Given the description of an element on the screen output the (x, y) to click on. 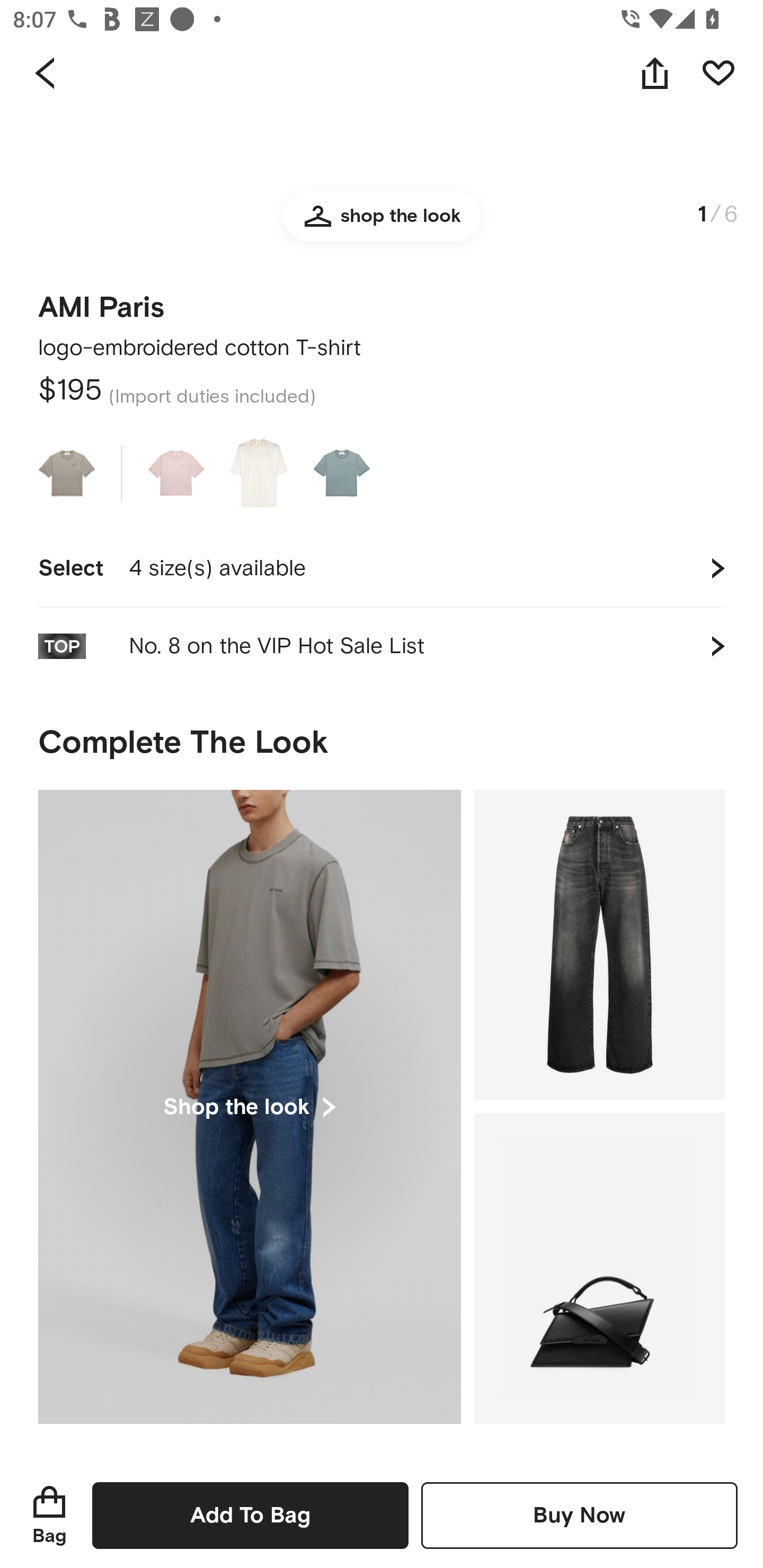
shop the look (381, 231)
AMI Paris (101, 301)
Select 4 size(s) available (381, 567)
No. 8 on the VIP Hot Sale List (381, 645)
Bag (49, 1515)
Add To Bag (250, 1515)
Buy Now (579, 1515)
